Given the description of an element on the screen output the (x, y) to click on. 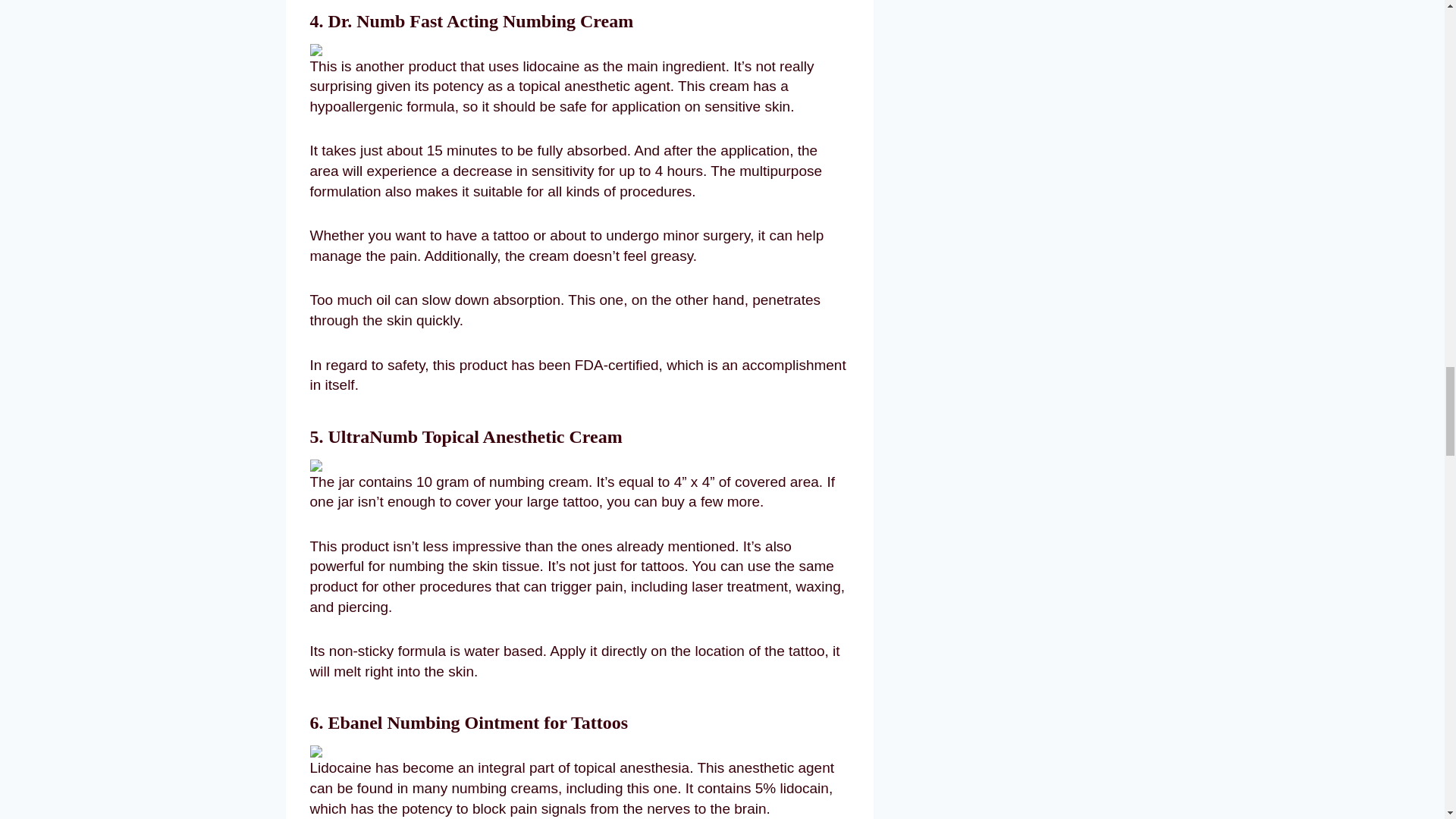
Dr. Numb Fast Acting Numbing Cream (480, 21)
Ebanel Numbing Ointment for Tattoos (477, 722)
UltraNumb Topical Anesthetic Cream (474, 436)
